Given the description of an element on the screen output the (x, y) to click on. 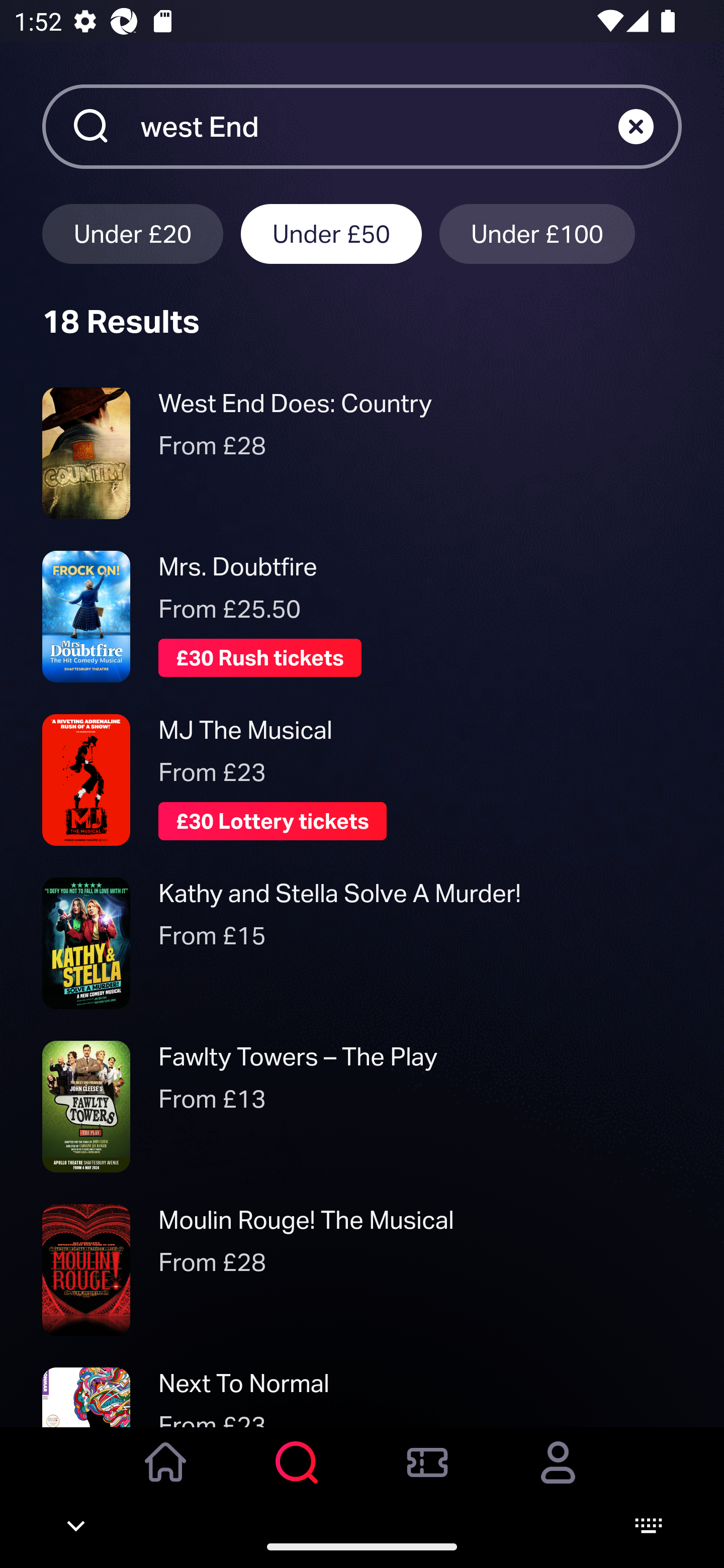
west End (379, 126)
Under £20 (131, 233)
Under £50 (331, 233)
Under £100 (536, 233)
Home (165, 1475)
Orders (427, 1475)
Account (558, 1475)
